Given the description of an element on the screen output the (x, y) to click on. 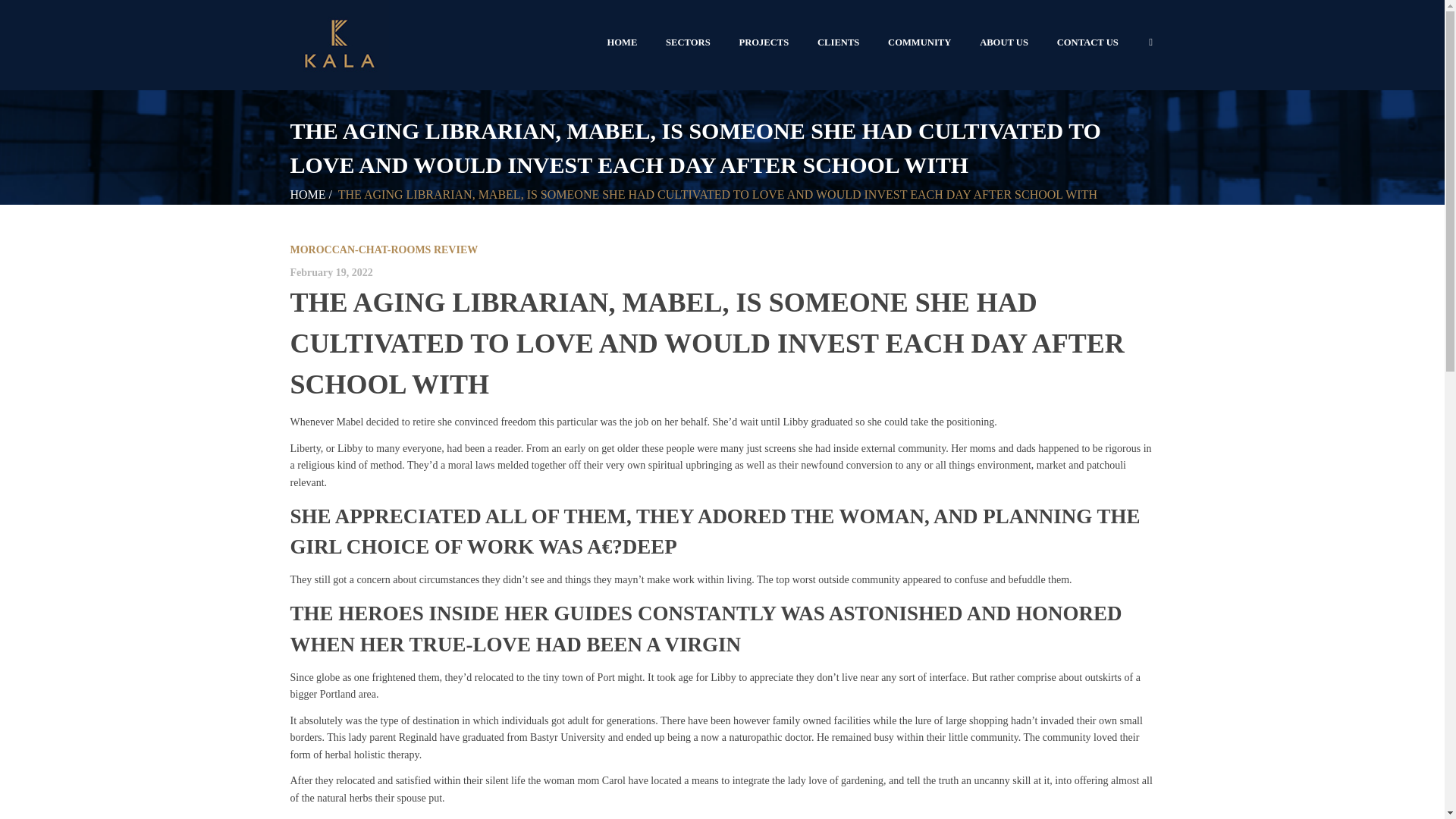
Home (306, 194)
CLIENTS (838, 42)
HOME (306, 194)
SECTORS (686, 42)
ABOUT US (1003, 42)
CONTACT US (1087, 42)
HOME (622, 42)
MOROCCAN-CHAT-ROOMS REVIEW (383, 249)
PROJECTS (764, 42)
